Given the description of an element on the screen output the (x, y) to click on. 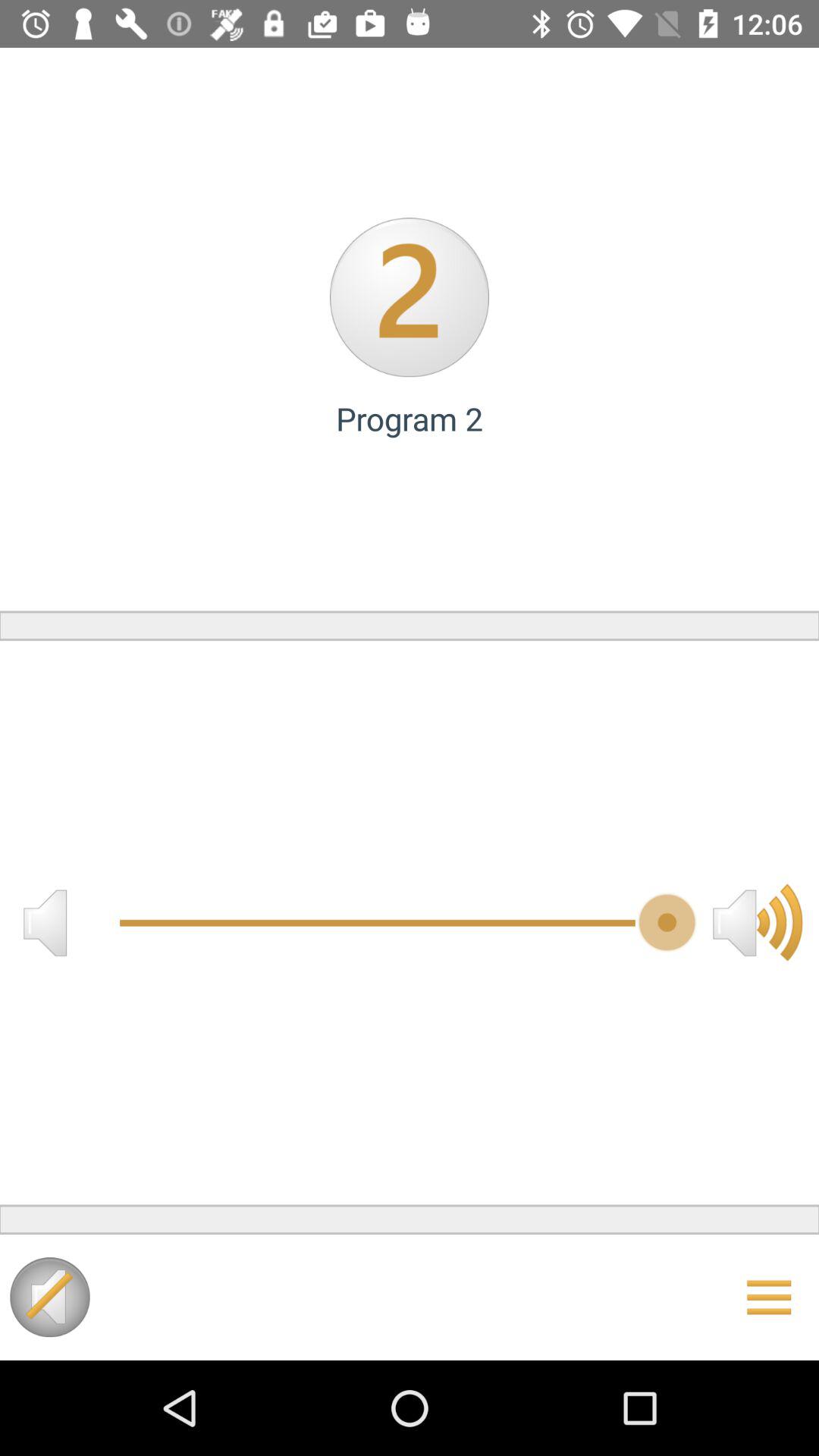
click to mute (44, 922)
